Given the description of an element on the screen output the (x, y) to click on. 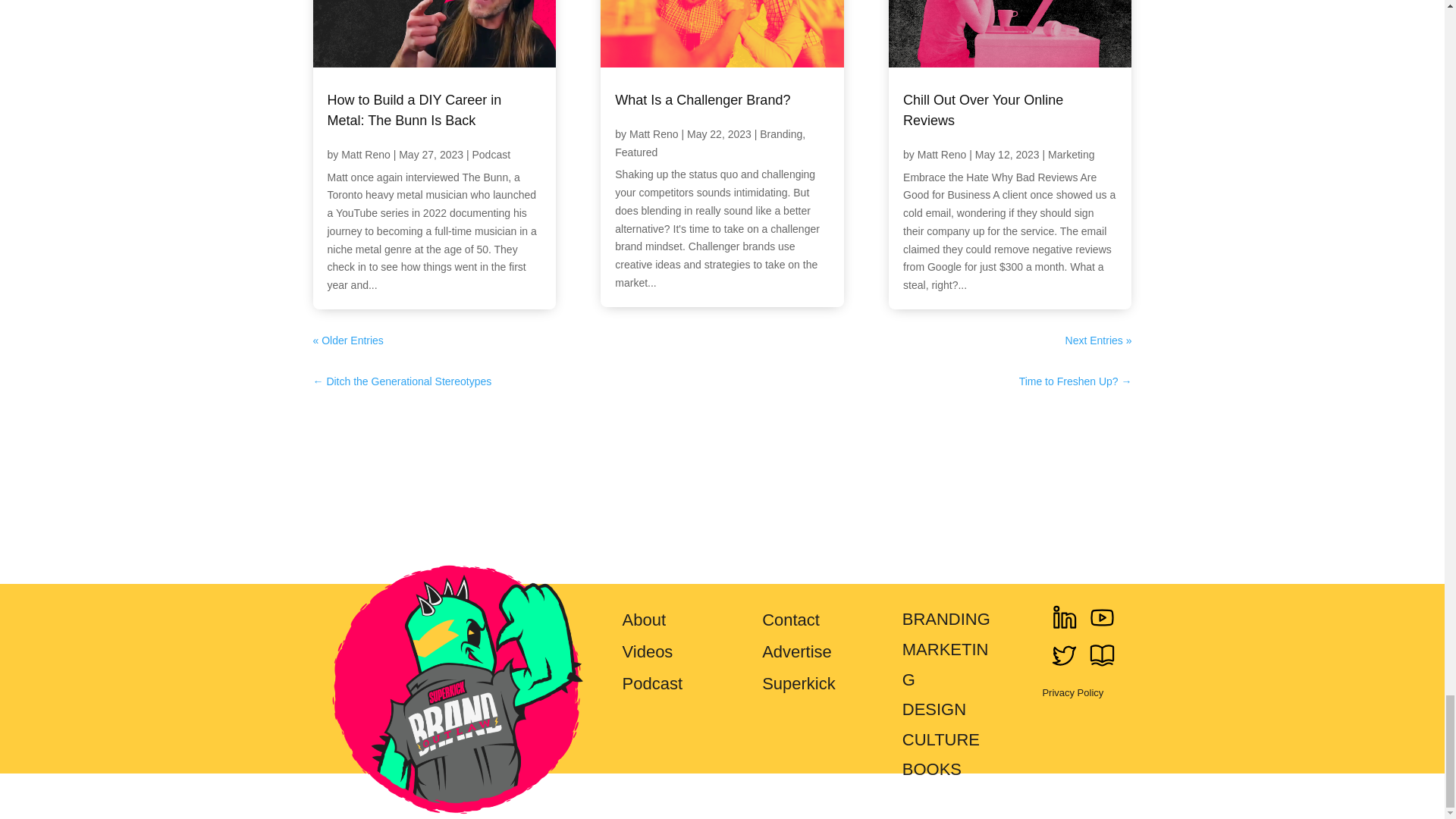
Posts by Matt Reno (365, 154)
